Given the description of an element on the screen output the (x, y) to click on. 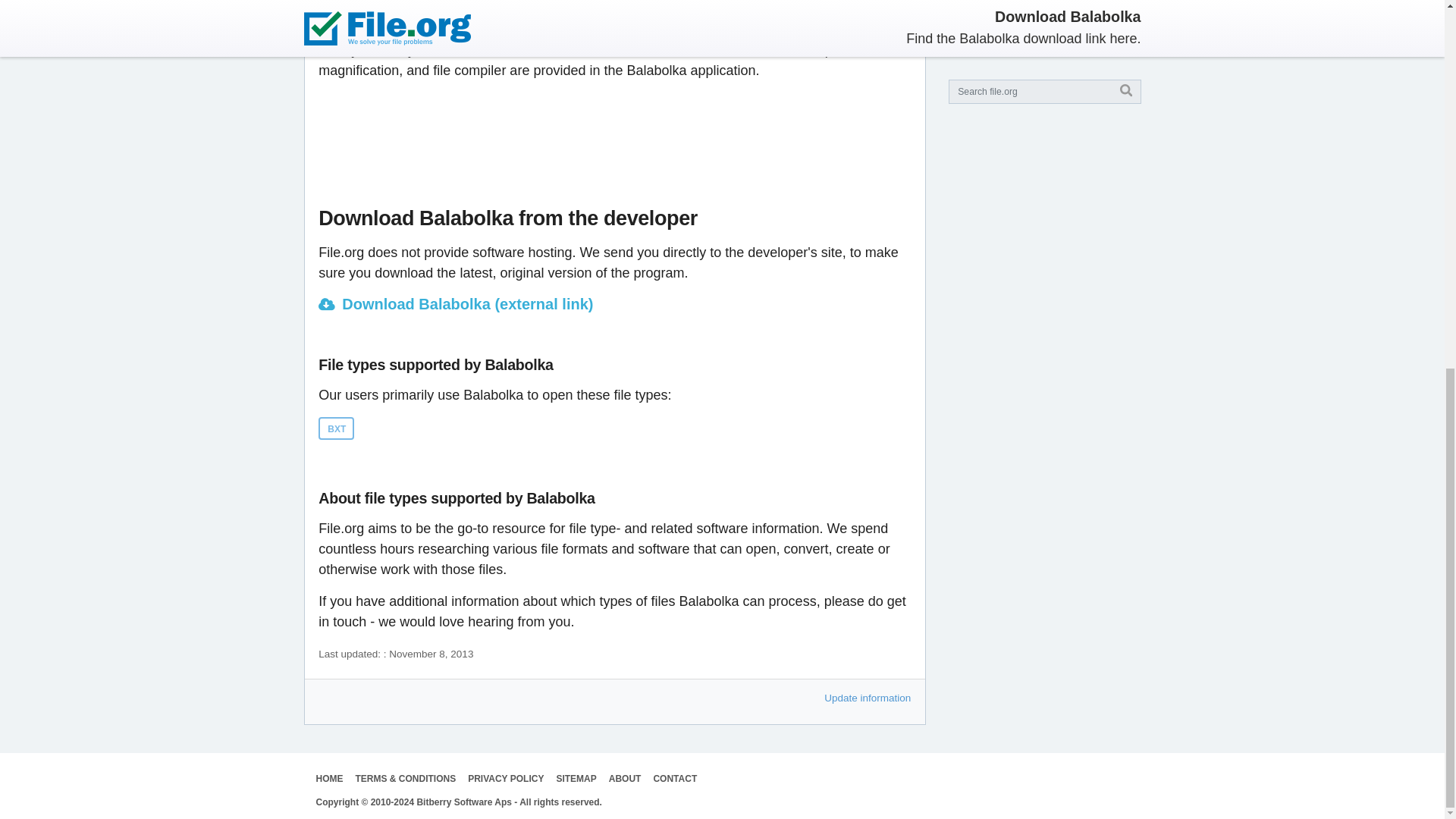
HOME (328, 778)
PRIVACY POLICY (505, 778)
SITEMAP (575, 778)
Update information (867, 697)
ABOUT (625, 778)
BXT (335, 427)
Click to download Balabolka (614, 303)
CONTACT (674, 778)
